Given the description of an element on the screen output the (x, y) to click on. 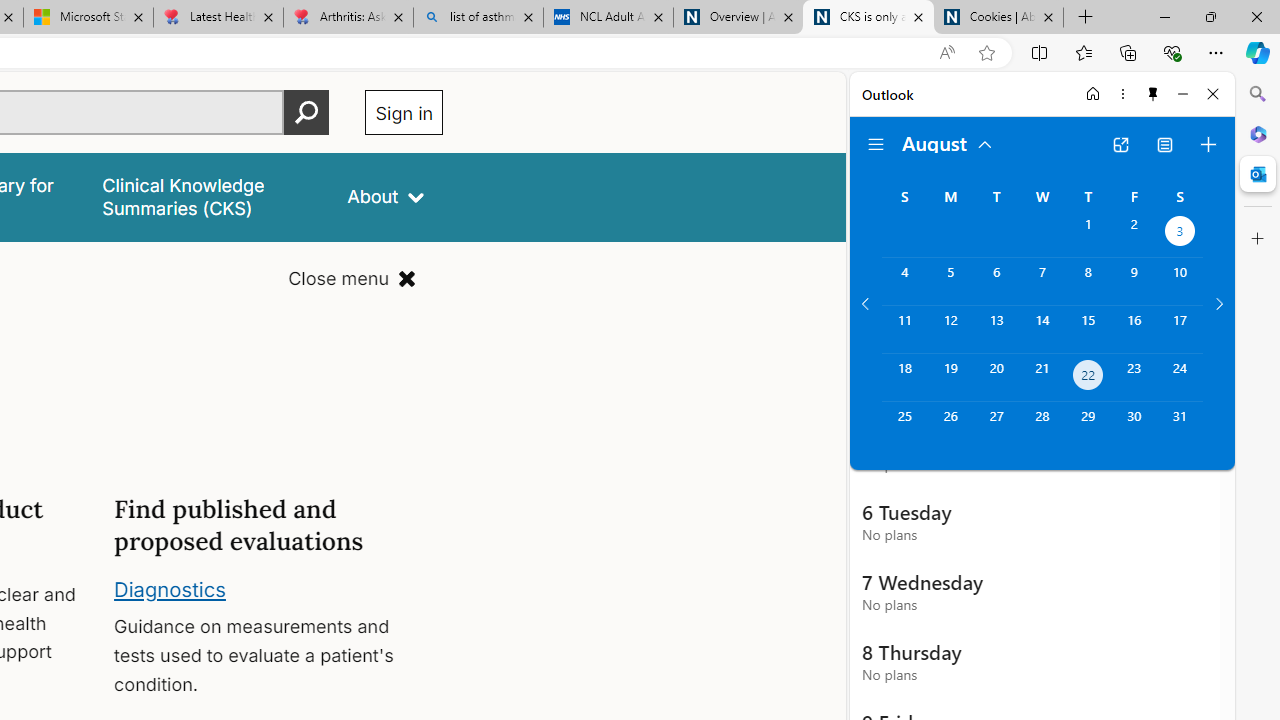
Wednesday, August 28, 2024.  (1042, 425)
Friday, August 9, 2024.  (1134, 281)
false (207, 196)
list of asthma inhalers uk - Search (477, 17)
Thursday, August 1, 2024.  (1088, 233)
Sunday, August 18, 2024.  (904, 377)
Thursday, August 29, 2024.  (1088, 425)
Sign in (404, 112)
Thursday, August 15, 2024.  (1088, 329)
Monday, August 5, 2024.  (950, 281)
Friday, August 16, 2024.  (1134, 329)
